Given the description of an element on the screen output the (x, y) to click on. 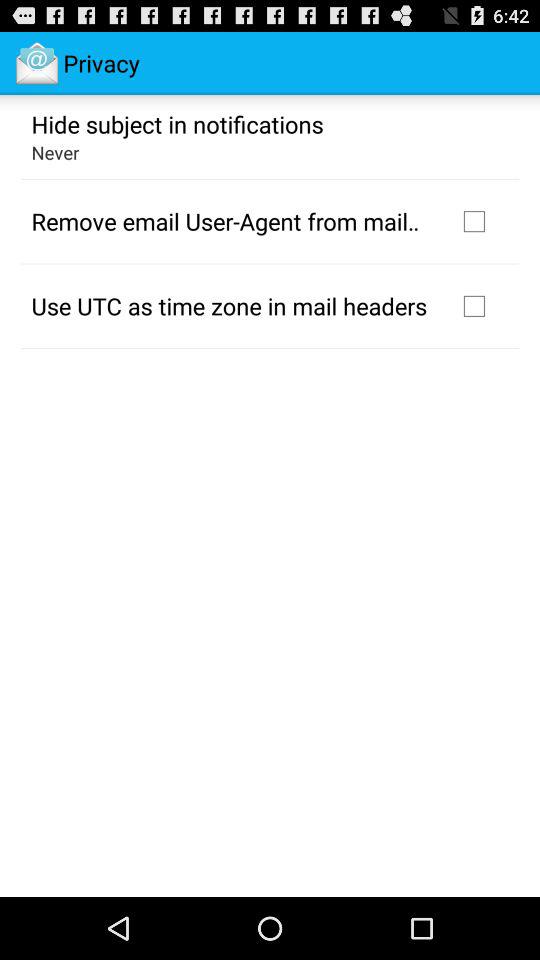
open app above the remove email user (55, 151)
